Given the description of an element on the screen output the (x, y) to click on. 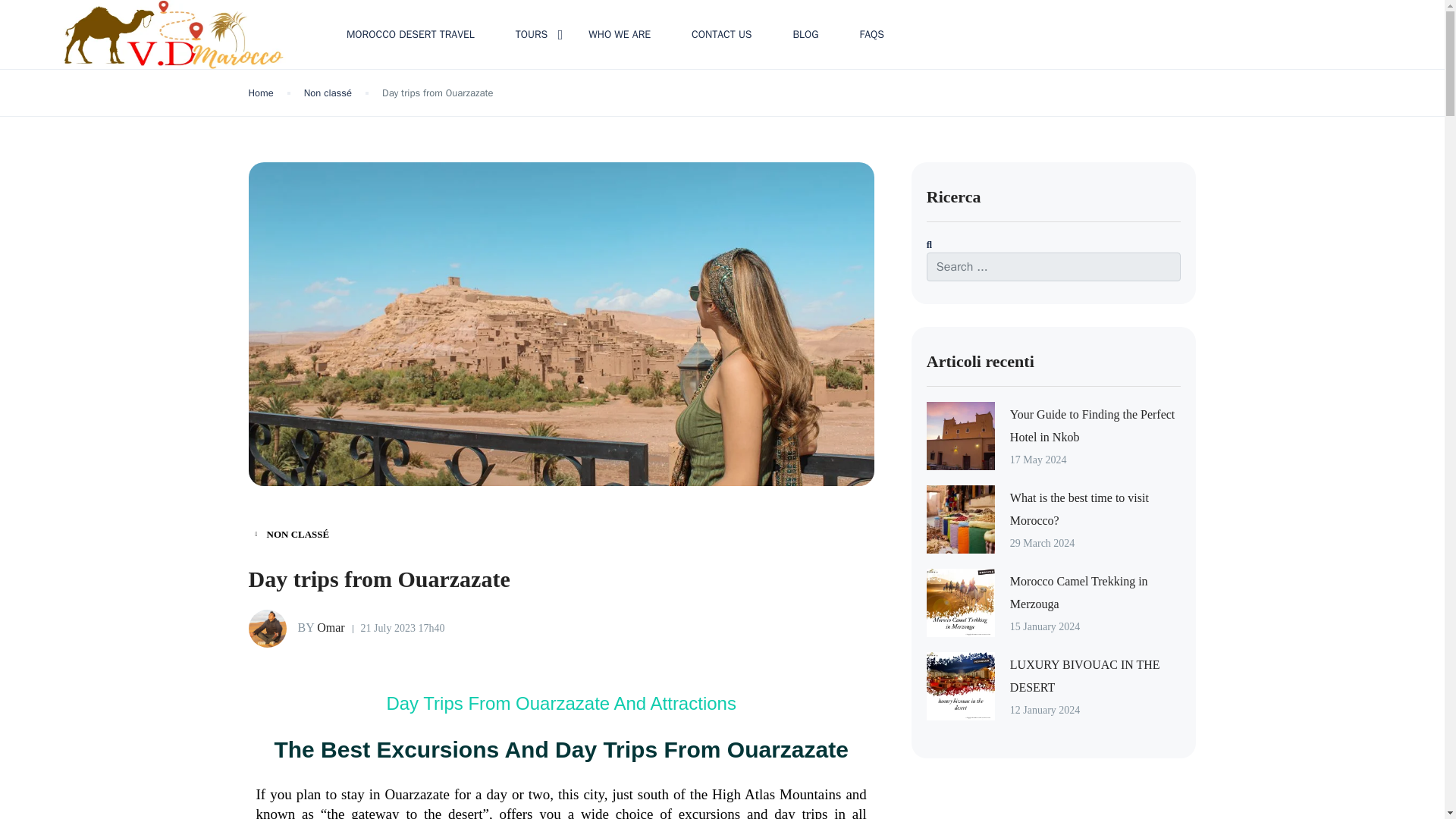
Home (260, 92)
MOROCCO DESERT TRAVEL (410, 34)
CONTACT US (721, 34)
BY Omar (296, 628)
BLOG (805, 34)
WHO WE ARE (619, 34)
Your Guide to Finding the Perfect Hotel in Nkob (1092, 425)
FAQS (871, 34)
TOURS (531, 34)
